Given the description of an element on the screen output the (x, y) to click on. 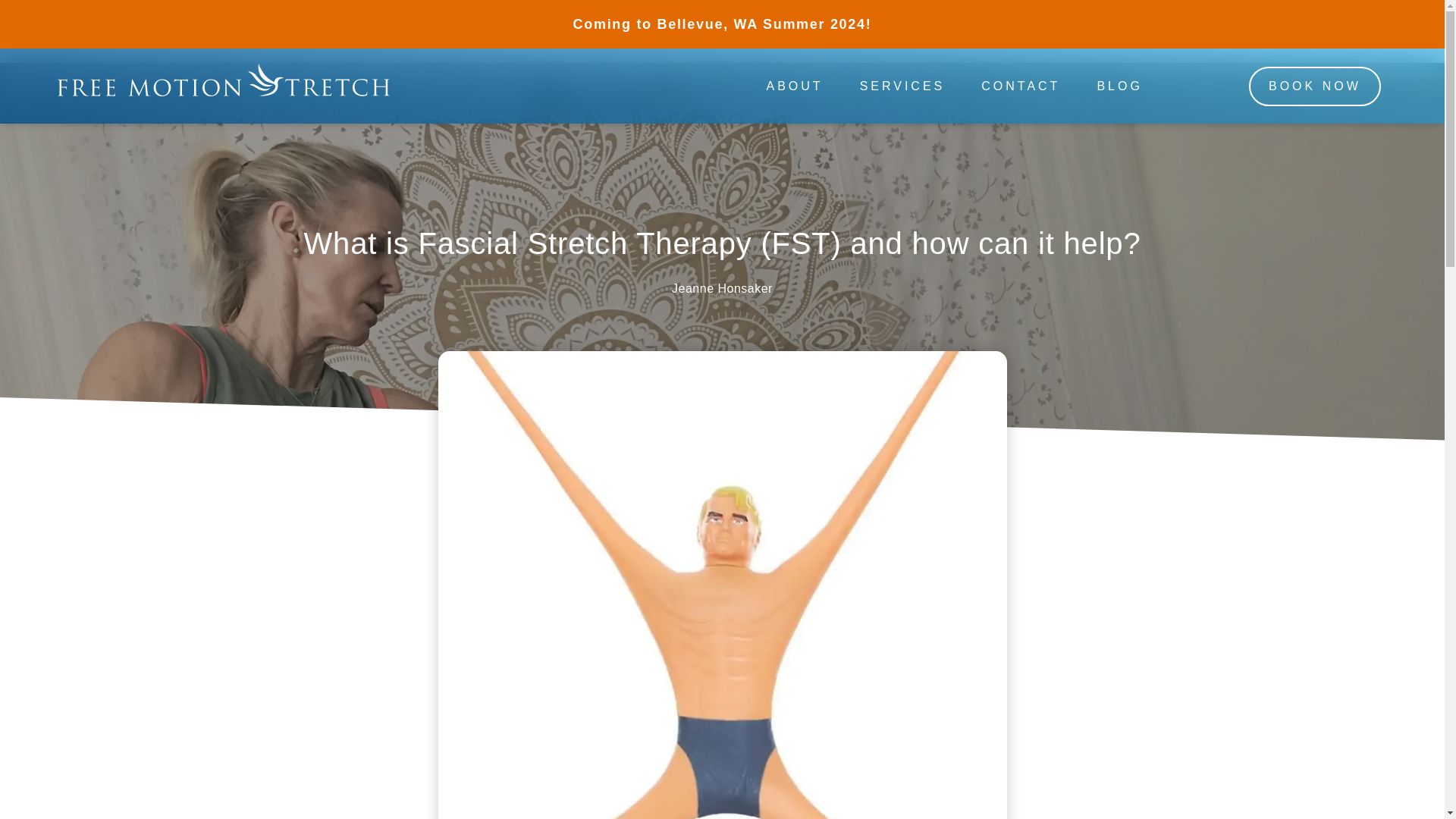
BOOK NOW (1314, 86)
SERVICES (902, 86)
ABOUT (794, 86)
CONTACT (1020, 86)
BLOG (1119, 86)
